Given the description of an element on the screen output the (x, y) to click on. 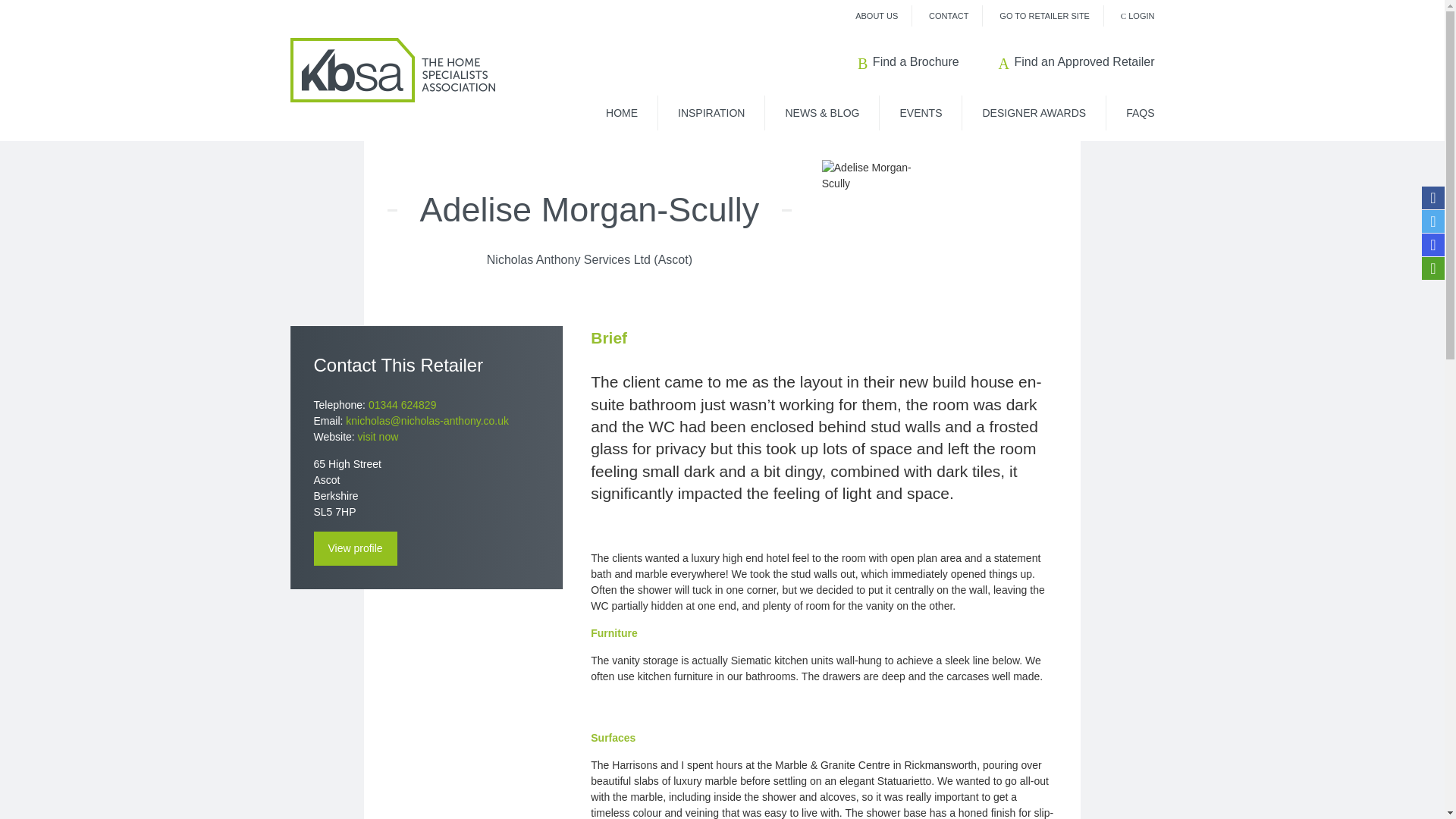
DESIGNER AWARDS (1032, 112)
CONTACT (948, 15)
01344 624829 (402, 404)
LOGIN (1137, 15)
ABOUT US (877, 15)
INSPIRATION (711, 112)
GO TO RETAILER SITE (1043, 15)
visit now (378, 436)
FAQS (1129, 112)
Find an Approved Retailer (1077, 61)
